Given the description of an element on the screen output the (x, y) to click on. 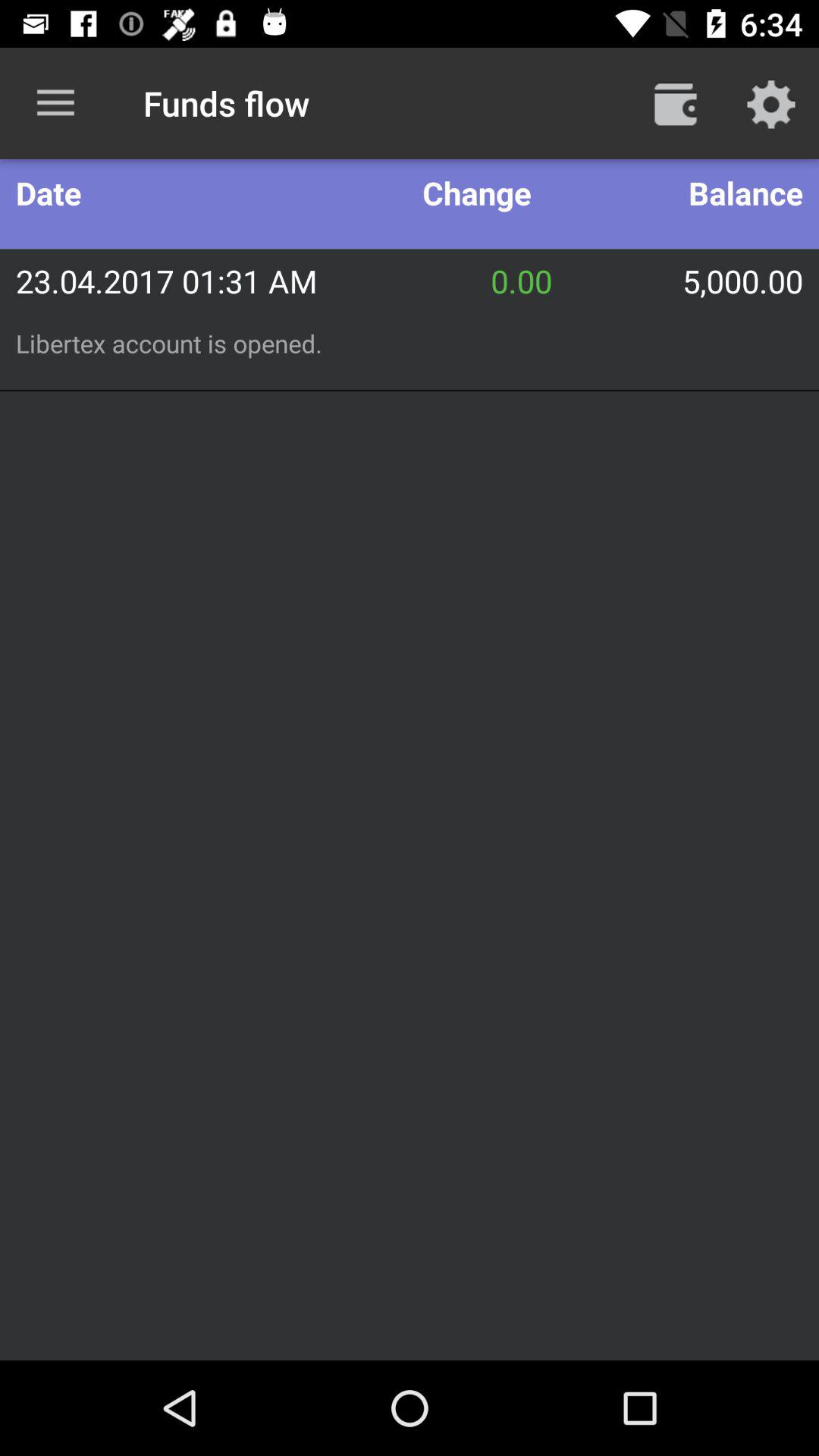
turn off the icon to the left of the funds flow app (55, 103)
